Given the description of an element on the screen output the (x, y) to click on. 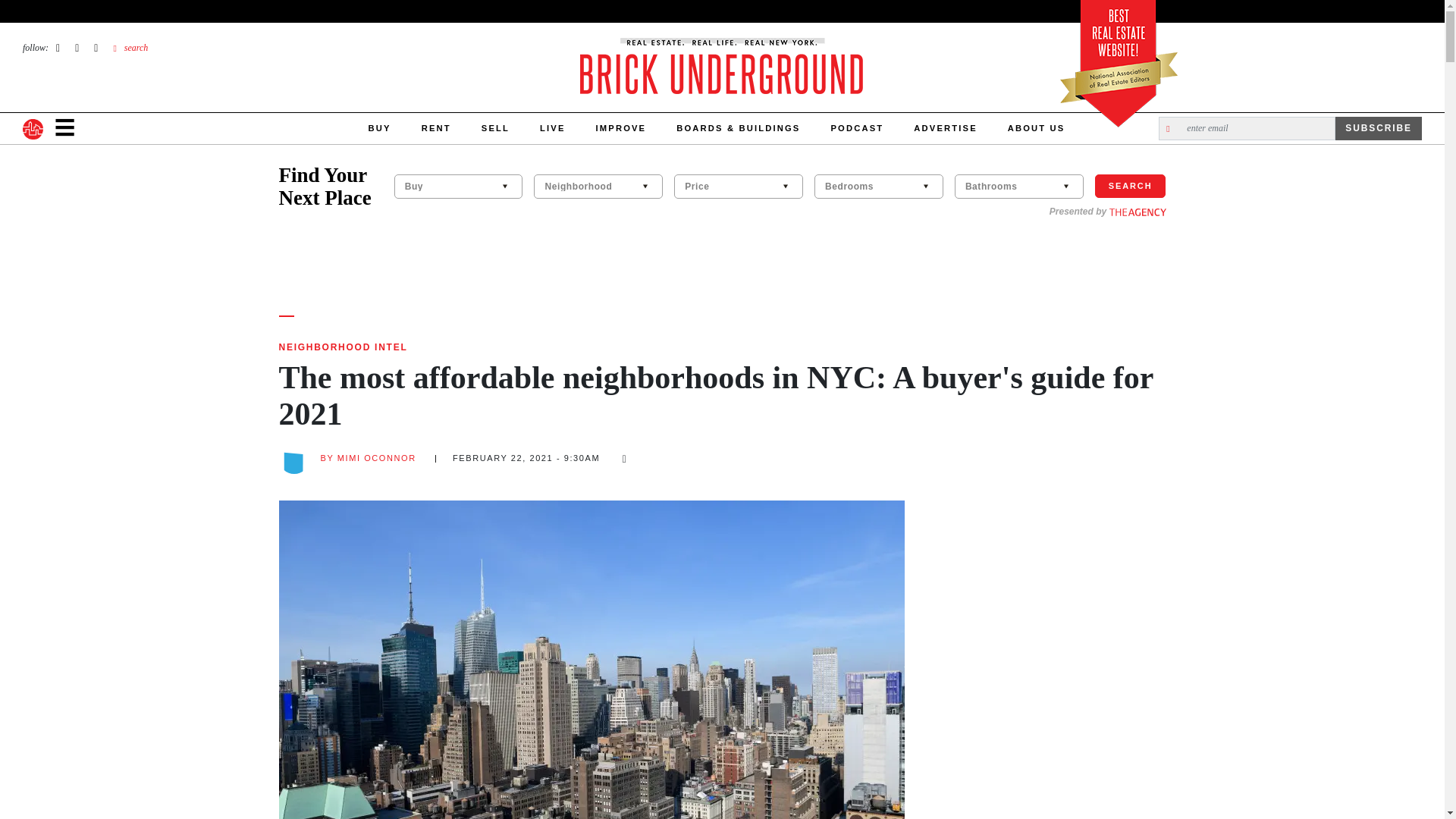
BUY (379, 128)
RENT (435, 128)
